Given the description of an element on the screen output the (x, y) to click on. 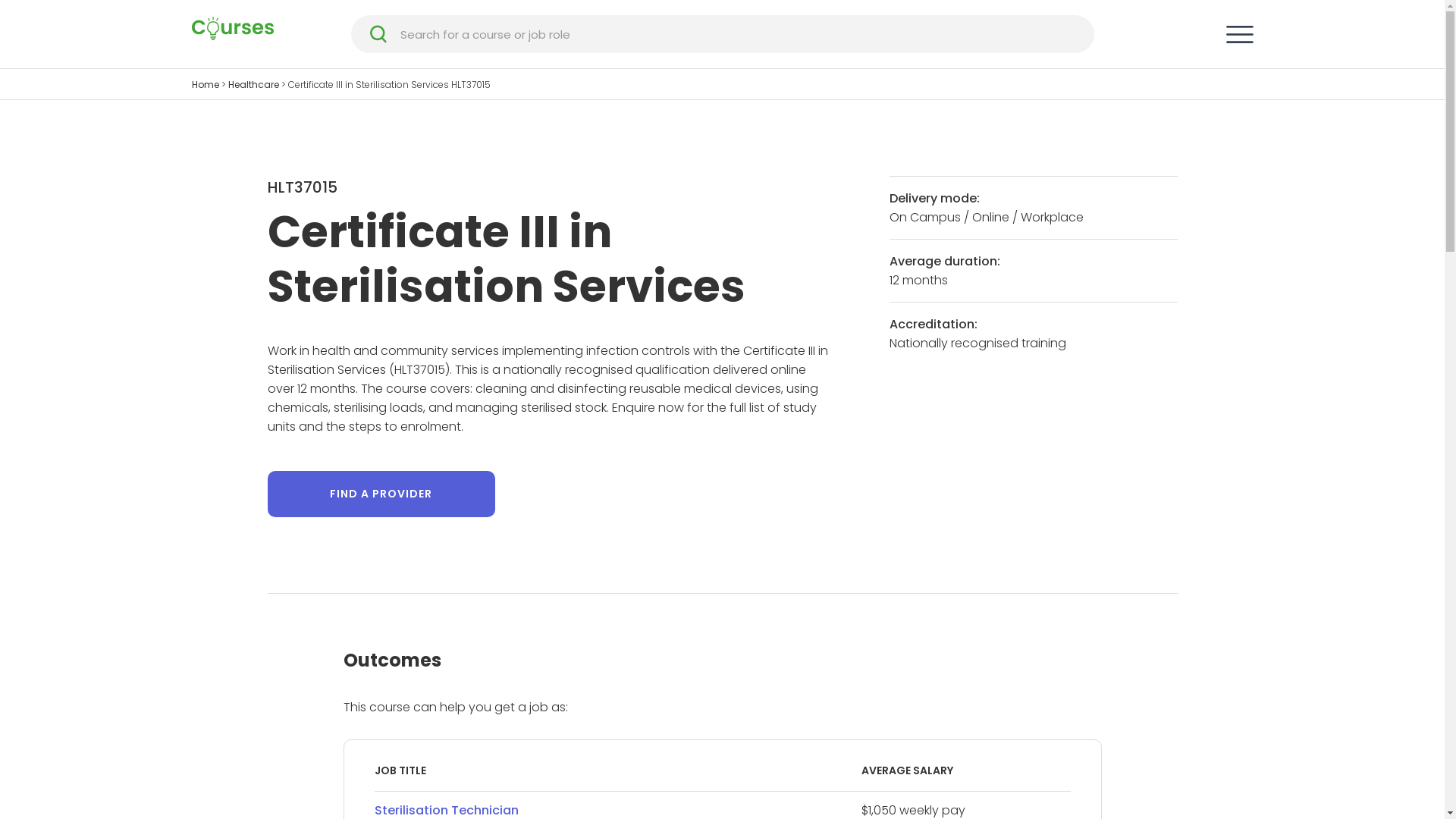
Home Element type: text (204, 84)
Search for a course or job role Element type: text (738, 33)
Healthcare Element type: text (252, 84)
Certificate III in Sterilisation Services HLT37015 Element type: text (389, 84)
FIND A PROVIDER Element type: text (380, 493)
